Given the description of an element on the screen output the (x, y) to click on. 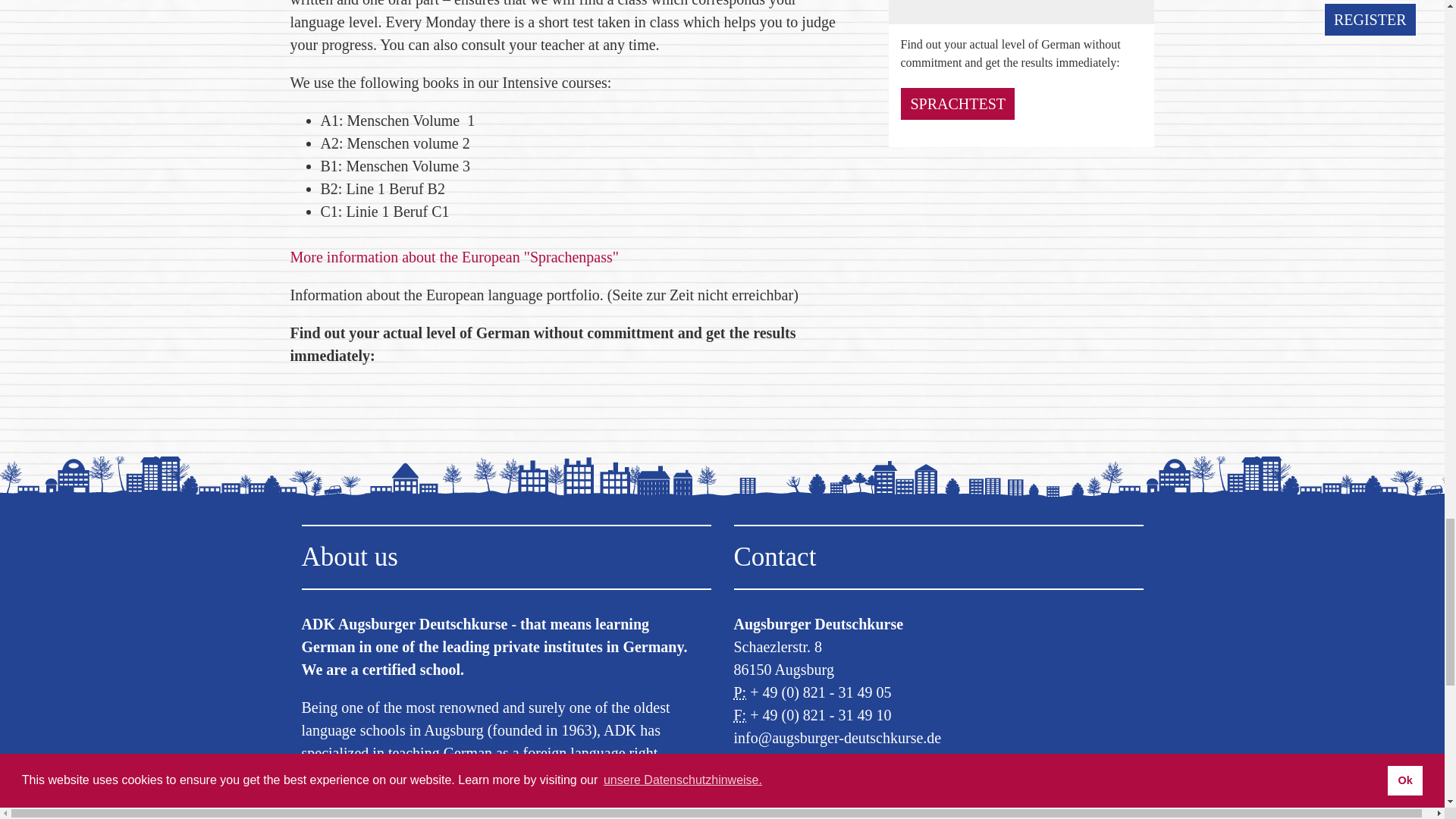
SPRACHTEST (956, 103)
More information about the European "Sprachenpass" (453, 256)
